Given the description of an element on the screen output the (x, y) to click on. 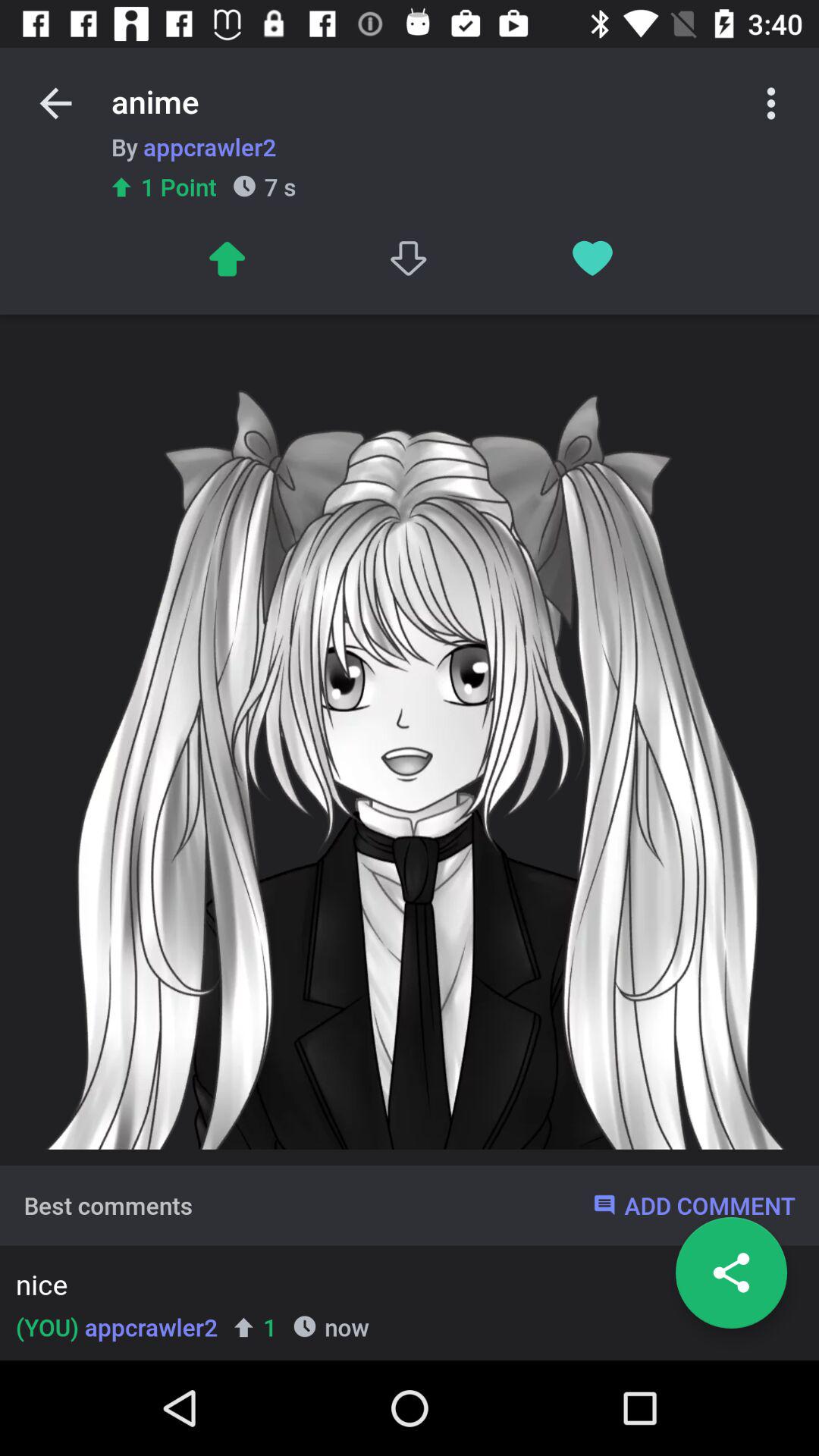
tap the icon below the anime icon (409, 258)
